Given the description of an element on the screen output the (x, y) to click on. 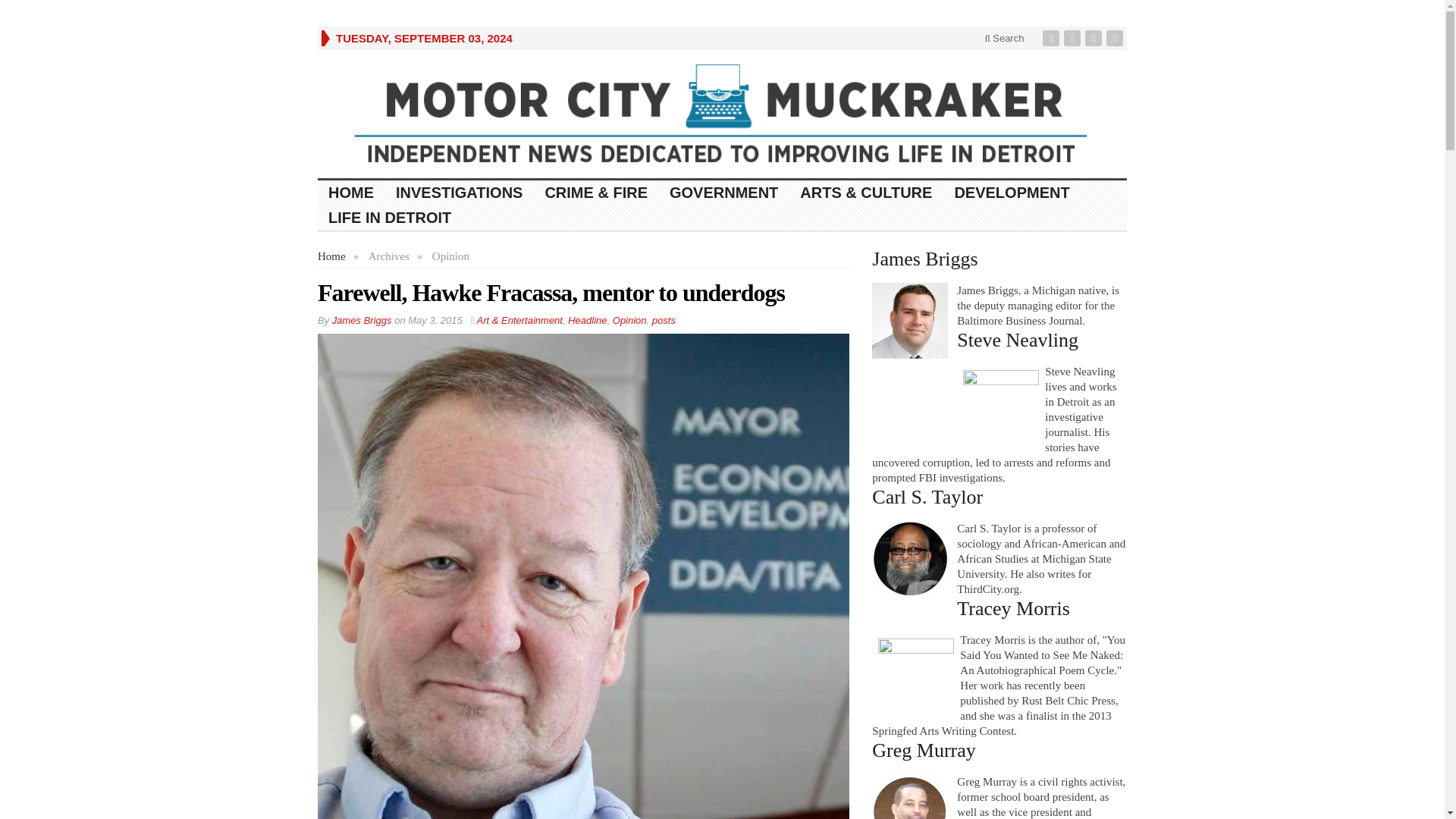
GOVERNMENT (724, 192)
INVESTIGATIONS (459, 192)
Opinion (629, 319)
Search (1003, 37)
Headline (587, 319)
Twitter (1073, 37)
Site feed (1115, 37)
DEVELOPMENT (1011, 192)
Home (331, 256)
